Given the description of an element on the screen output the (x, y) to click on. 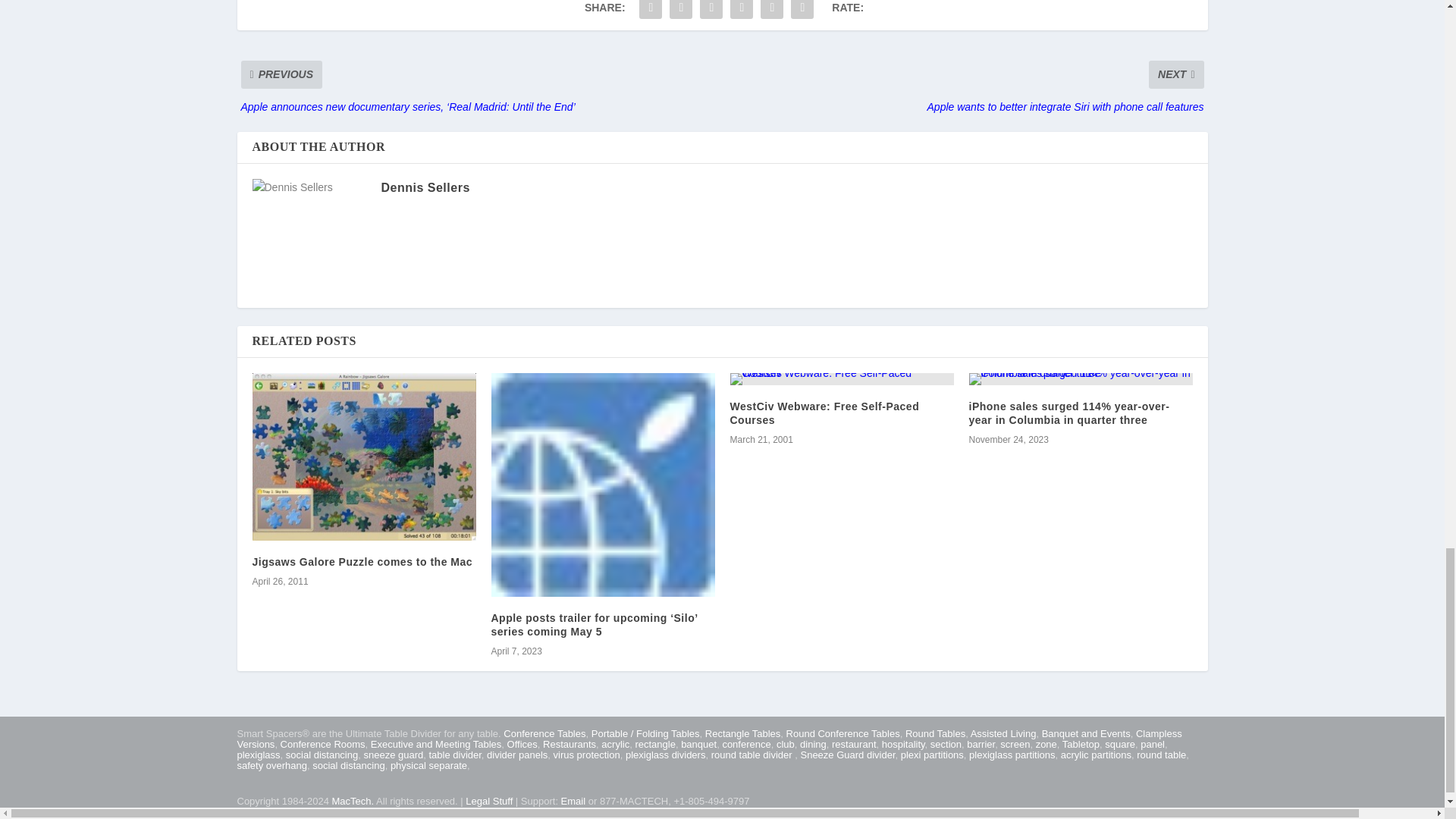
WestCiv Webware: Free Self-Paced Courses (841, 378)
View all posts by Dennis Sellers (424, 187)
Jigsaws Galore Puzzle comes to the Mac (363, 456)
